Given the description of an element on the screen output the (x, y) to click on. 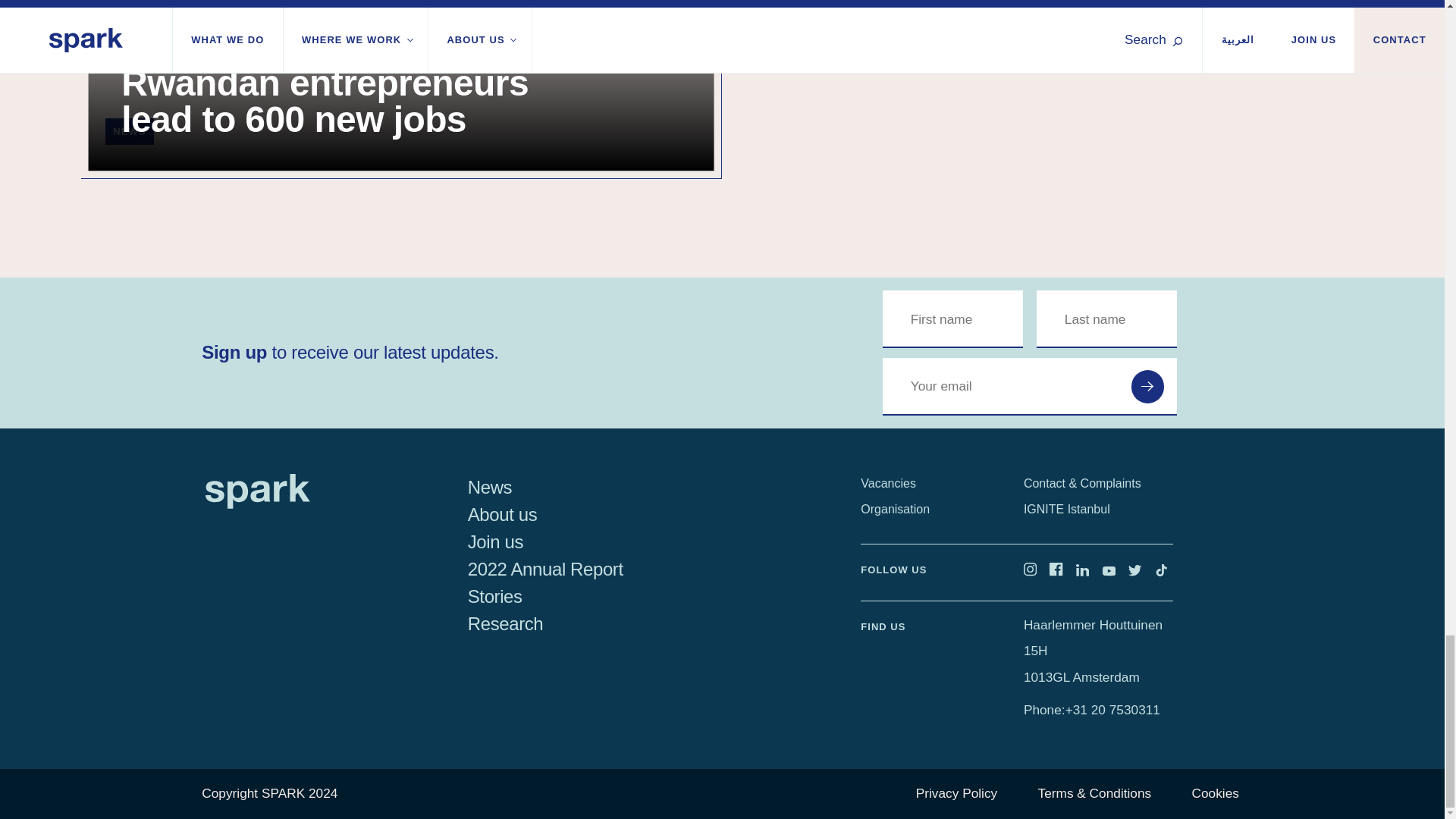
Visit our Linkedin page (1088, 571)
Follow us on Twitter (1141, 571)
Visit the Spark homepage (257, 503)
Like our Facebook page (1062, 571)
Submit (1147, 386)
Follow us on Instagram (1036, 571)
Subscribe to our Youtube page (1115, 571)
